Given the description of an element on the screen output the (x, y) to click on. 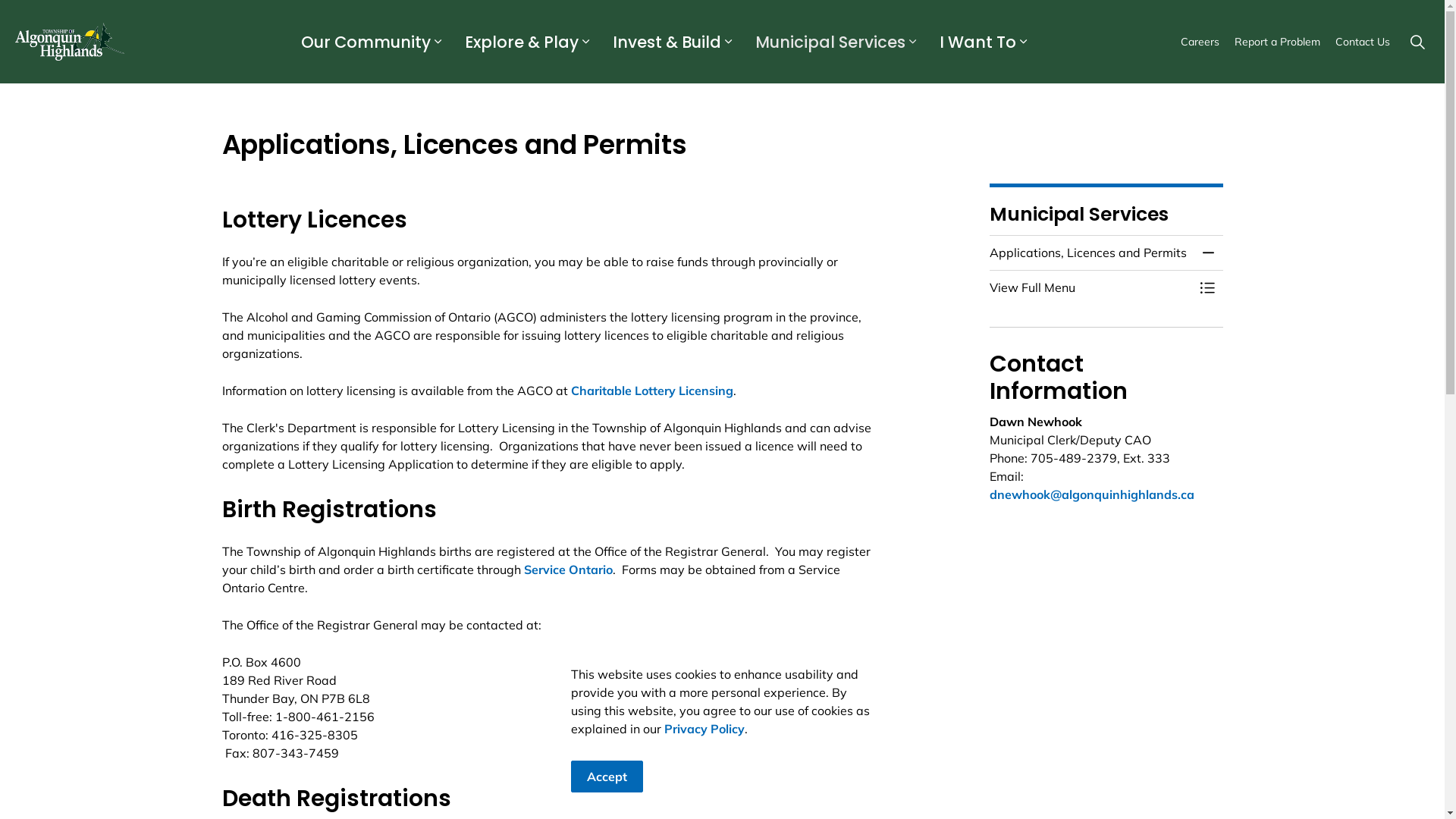
Algonquin Highlands Element type: hover (69, 41)
dnewhook@algonquinhighlands.ca Element type: text (1091, 494)
Invest & Build Element type: text (664, 41)
Municipal Services Element type: text (828, 41)
Toggle Section Element type: text (1207, 252)
Report a Problem Element type: text (1276, 41)
Contact Us Element type: text (1362, 41)
Toggle Section Element type: text (1207, 287)
Privacy Policy Element type: text (704, 728)
Our Community Element type: text (363, 41)
I Want To Element type: text (975, 41)
View Full Menu Element type: text (1090, 287)
Careers Element type: text (1199, 41)
Applications, Licences and Permits Element type: text (1090, 252)
Charitable Lottery Licensing Element type: text (651, 390)
Service Ontario Element type: text (567, 569)
Accept Element type: text (606, 776)
Explore & Play Element type: text (519, 41)
